Given the description of an element on the screen output the (x, y) to click on. 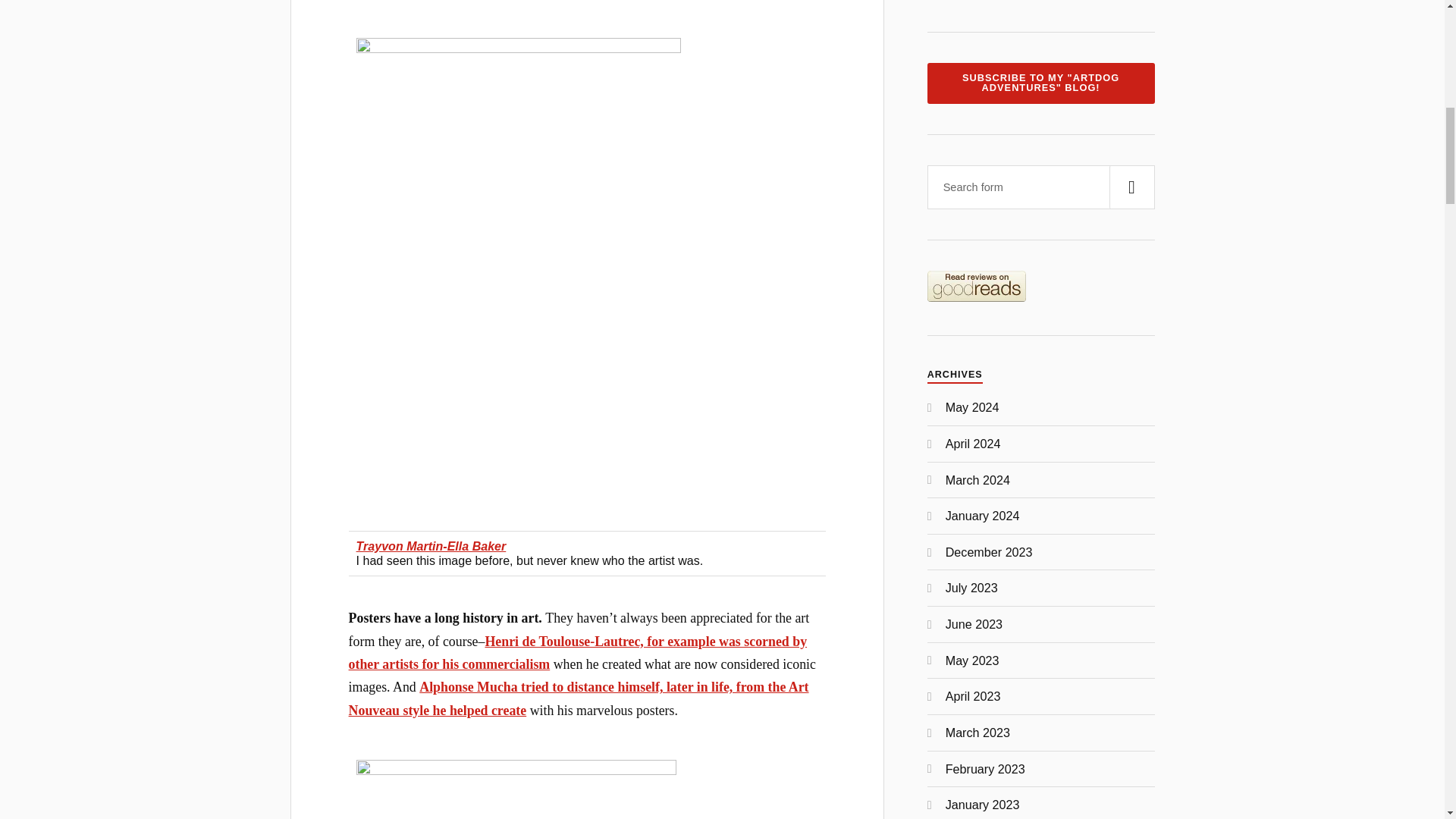
Trayvon Martin-Ella Baker (431, 545)
